Given the description of an element on the screen output the (x, y) to click on. 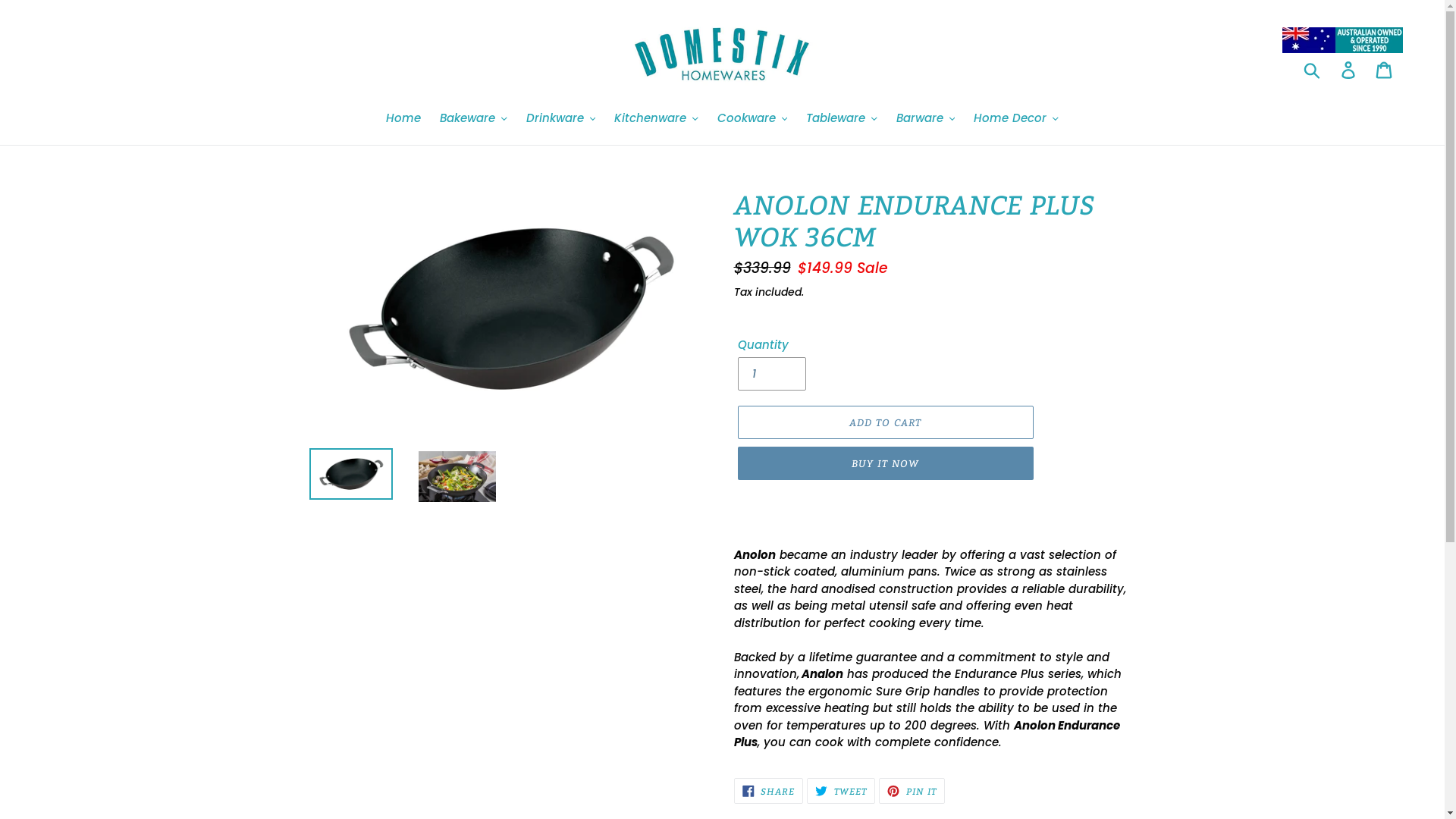
ADD TO CART Element type: text (884, 422)
TWEET
TWEET ON TWITTER Element type: text (840, 790)
Log in Element type: text (1349, 69)
Cart Element type: text (1384, 69)
PIN IT
PIN ON PINTEREST Element type: text (911, 790)
SHARE
SHARE ON FACEBOOK Element type: text (768, 790)
Submit Element type: text (1312, 69)
BUY IT NOW Element type: text (884, 463)
Home Element type: text (403, 119)
